Given the description of an element on the screen output the (x, y) to click on. 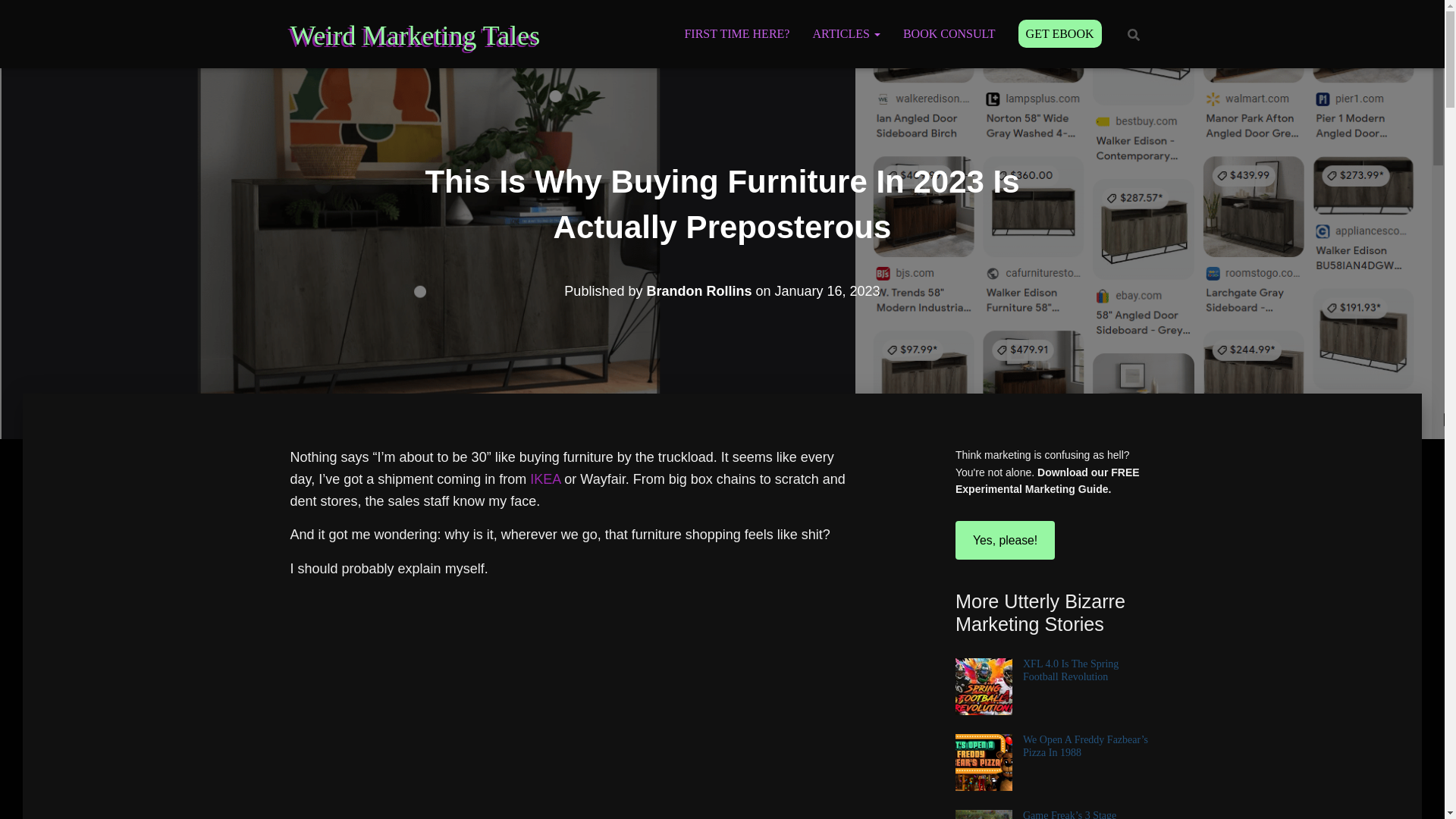
Yes, please! (1004, 539)
GET EBOOK (1060, 34)
Weird Marketing Tales (415, 35)
BOOK CONSULT (949, 34)
Brandon Rollins (698, 290)
Get eBook (1060, 34)
First Time Here? (736, 34)
ARTICLES (845, 34)
Fight Club - Scene from the IKEA catalog (574, 705)
Weird Marketing Tales (415, 35)
FIRST TIME HERE? (736, 34)
Articles (845, 34)
IKEA (544, 478)
XFL 4.0 Is The Spring Football Revolution (1070, 670)
